Given the description of an element on the screen output the (x, y) to click on. 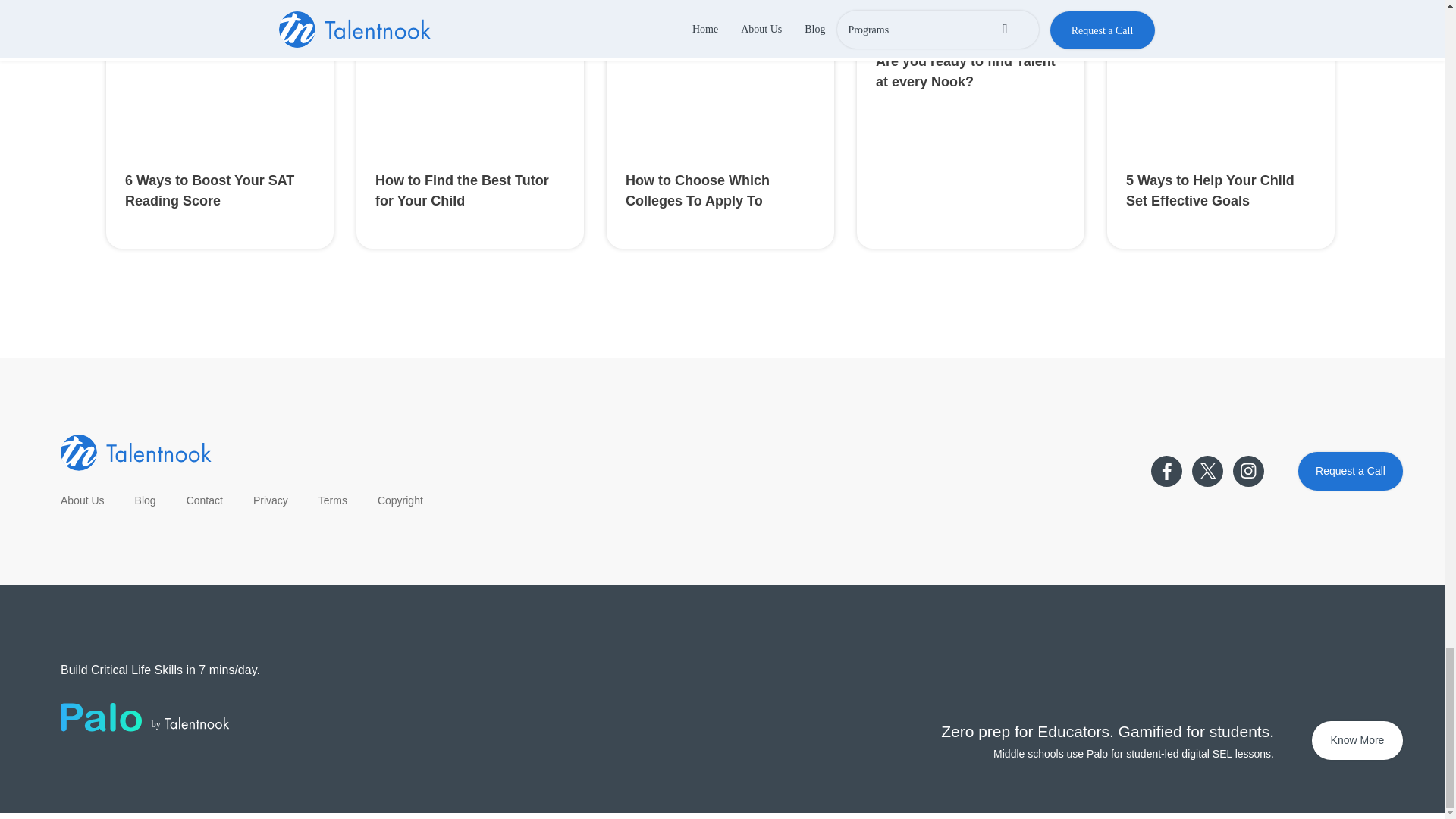
by (144, 716)
